Given the description of an element on the screen output the (x, y) to click on. 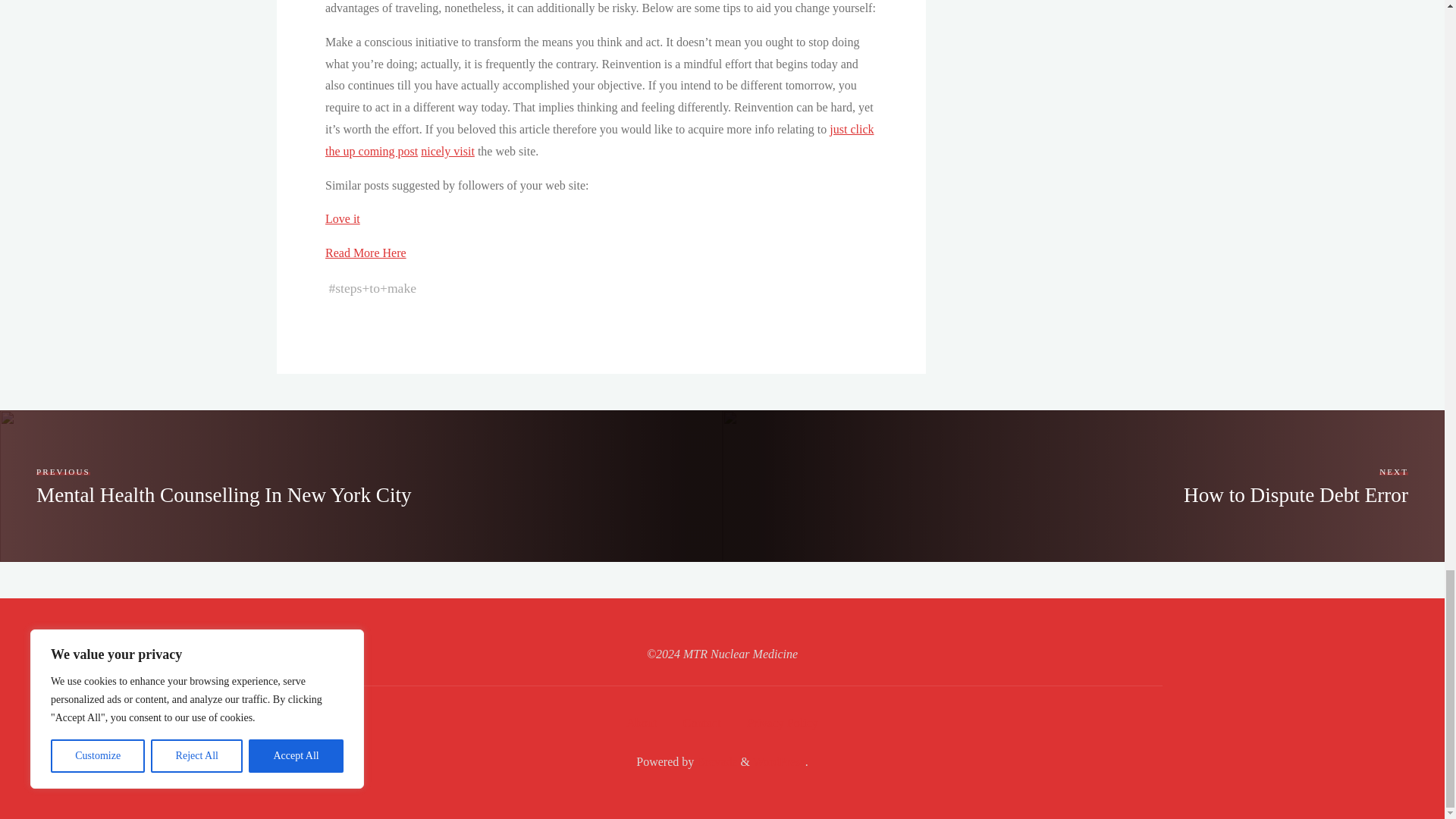
Read More Here (365, 252)
nicely visit (447, 151)
just click the up coming post (598, 140)
Bravada WordPress Theme by Cryout Creations (715, 761)
Love it (341, 218)
Semantic Personal Publishing Platform (778, 761)
